Given the description of an element on the screen output the (x, y) to click on. 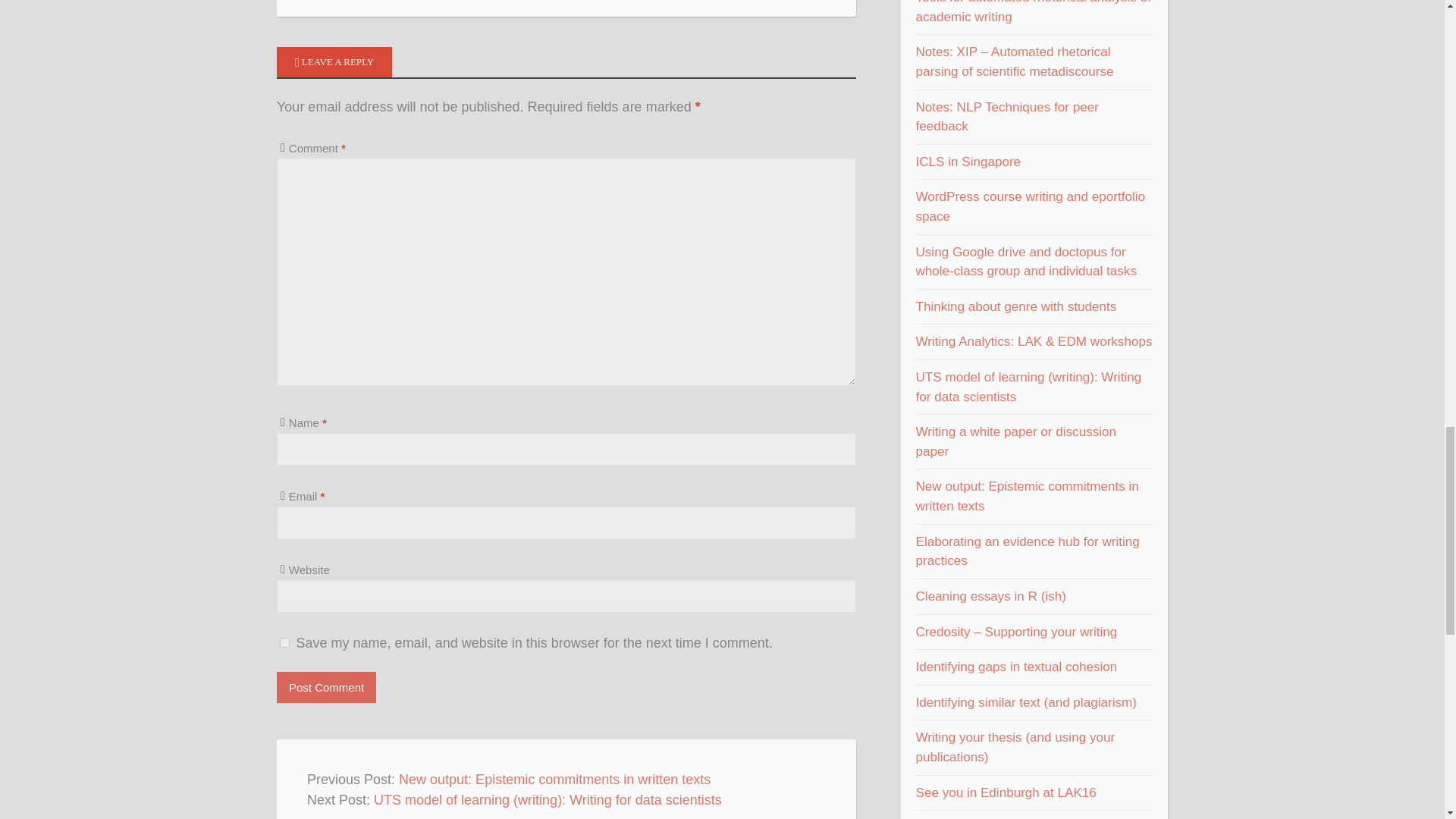
Post Comment (325, 686)
Post Comment (325, 686)
yes (284, 642)
New output: Epistemic commitments in written texts (554, 779)
